Given the description of an element on the screen output the (x, y) to click on. 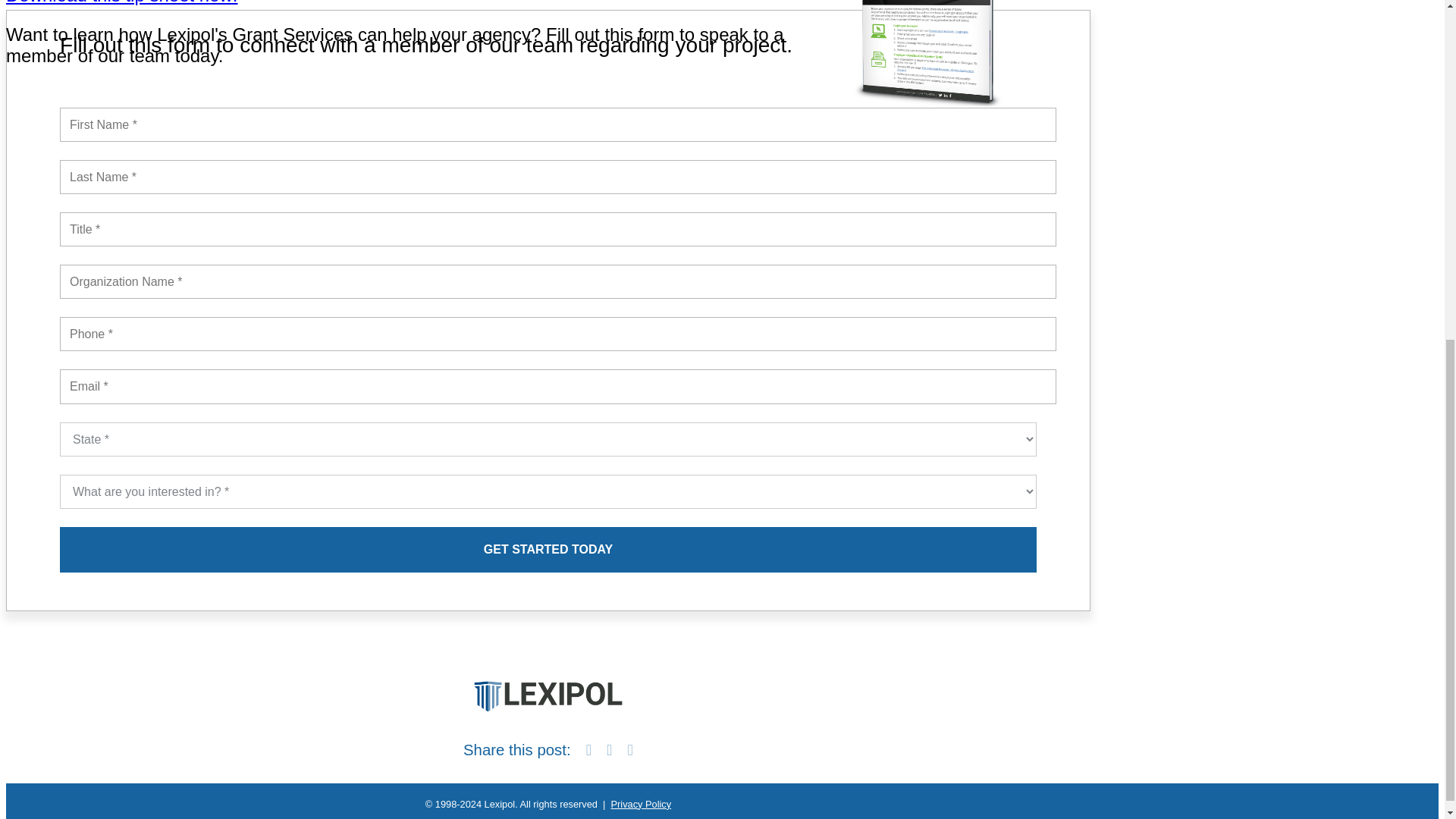
Privacy Policy (641, 803)
Get Started Today (547, 549)
Download this tip sheet now! (121, 2)
Get Started Today (547, 549)
